Given the description of an element on the screen output the (x, y) to click on. 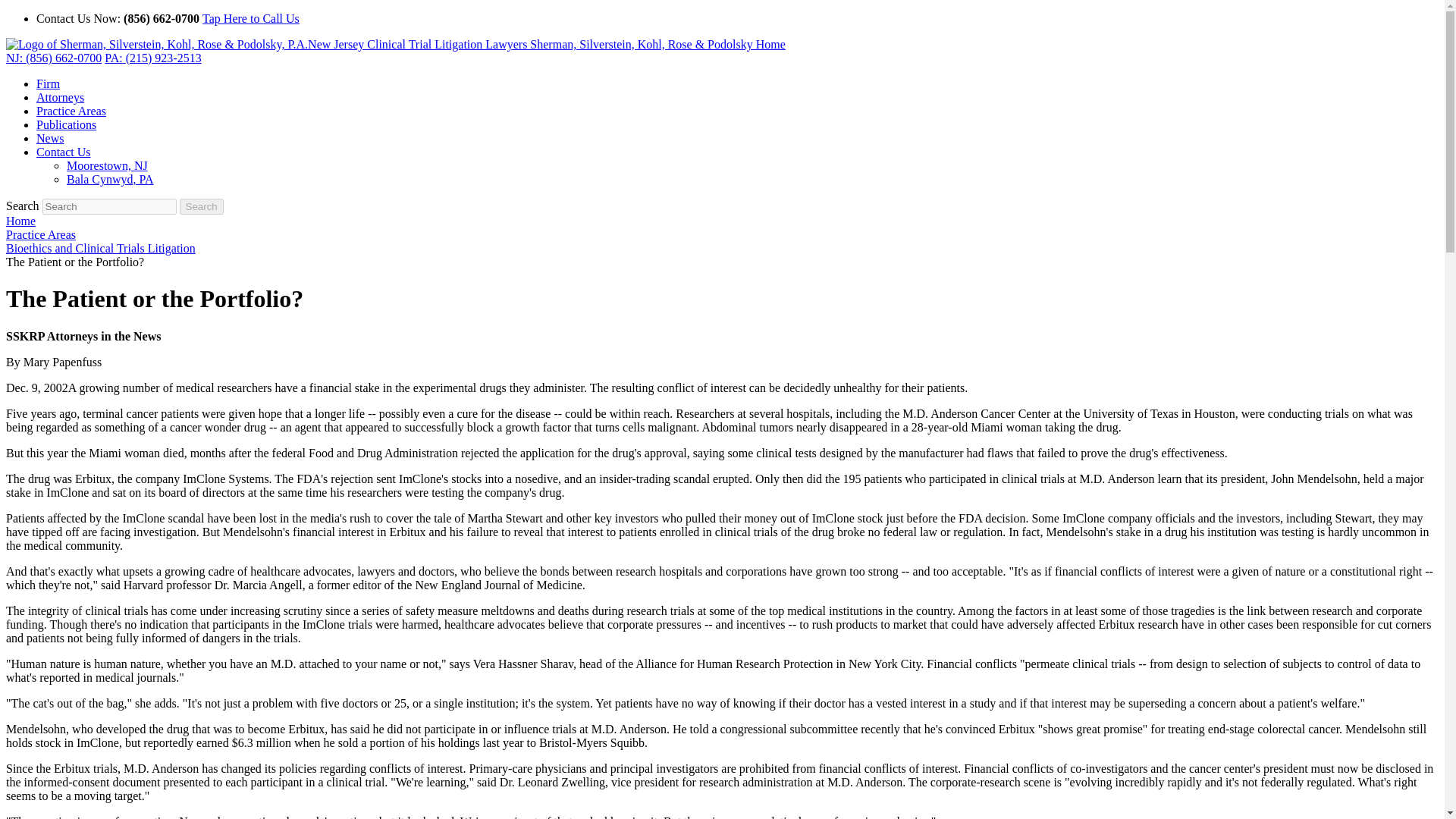
Search (109, 206)
Publications (66, 124)
Home (19, 220)
Tap Here to Call Us (250, 18)
Contact Us (63, 151)
Search (201, 206)
News (50, 137)
Bala Cynwyd, PA (110, 178)
Firm (47, 83)
Attorneys (60, 97)
Practice Areas (40, 234)
Bioethics and Clinical Trials Litigation (100, 247)
Practice Areas (71, 110)
Back to Home (395, 43)
Moorestown, NJ (107, 164)
